Given the description of an element on the screen output the (x, y) to click on. 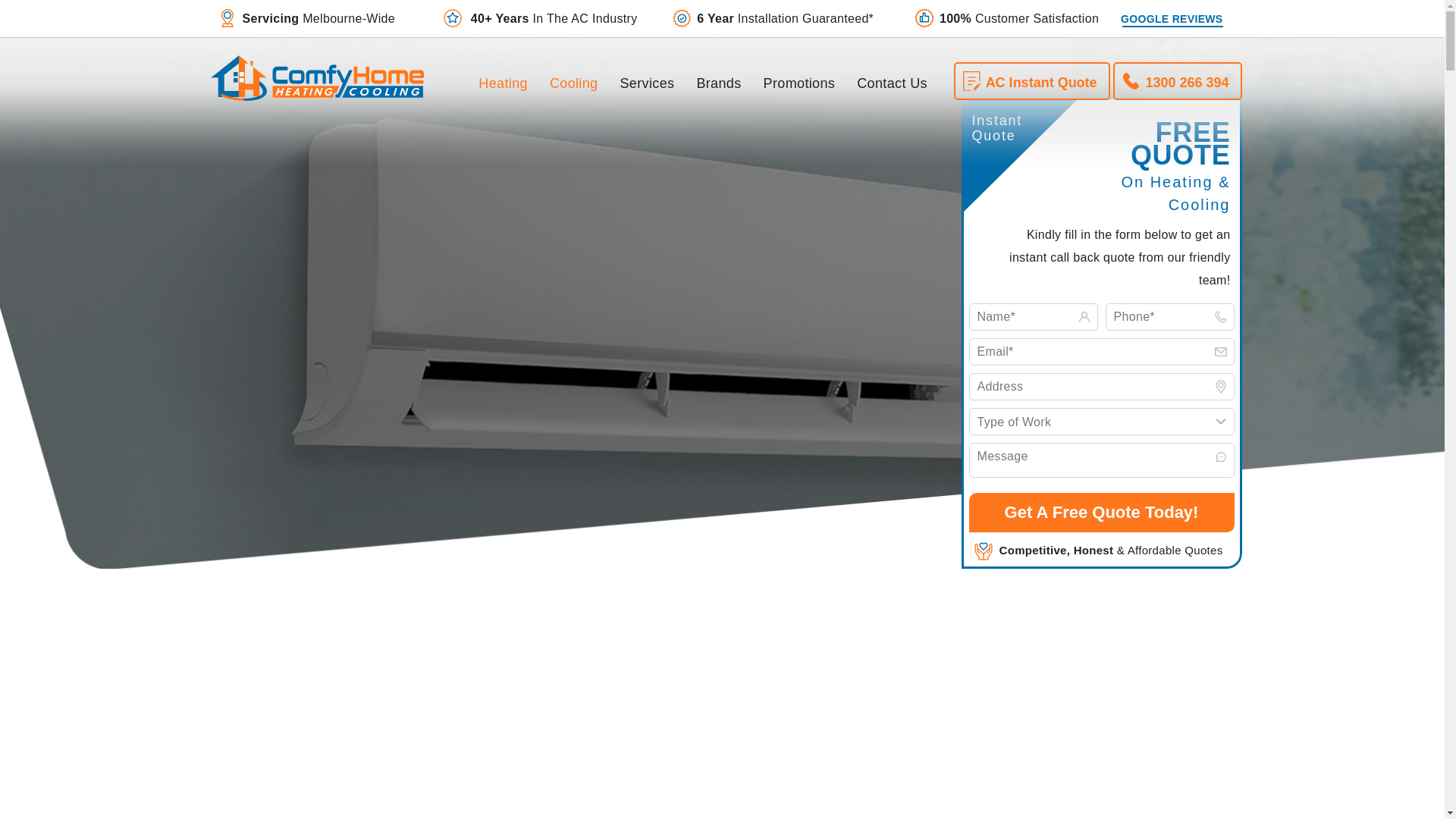
GOOGLE REVIEWS (1172, 18)
Get A Free Quote Today! (1101, 512)
Google Reviews (1172, 18)
